Given the description of an element on the screen output the (x, y) to click on. 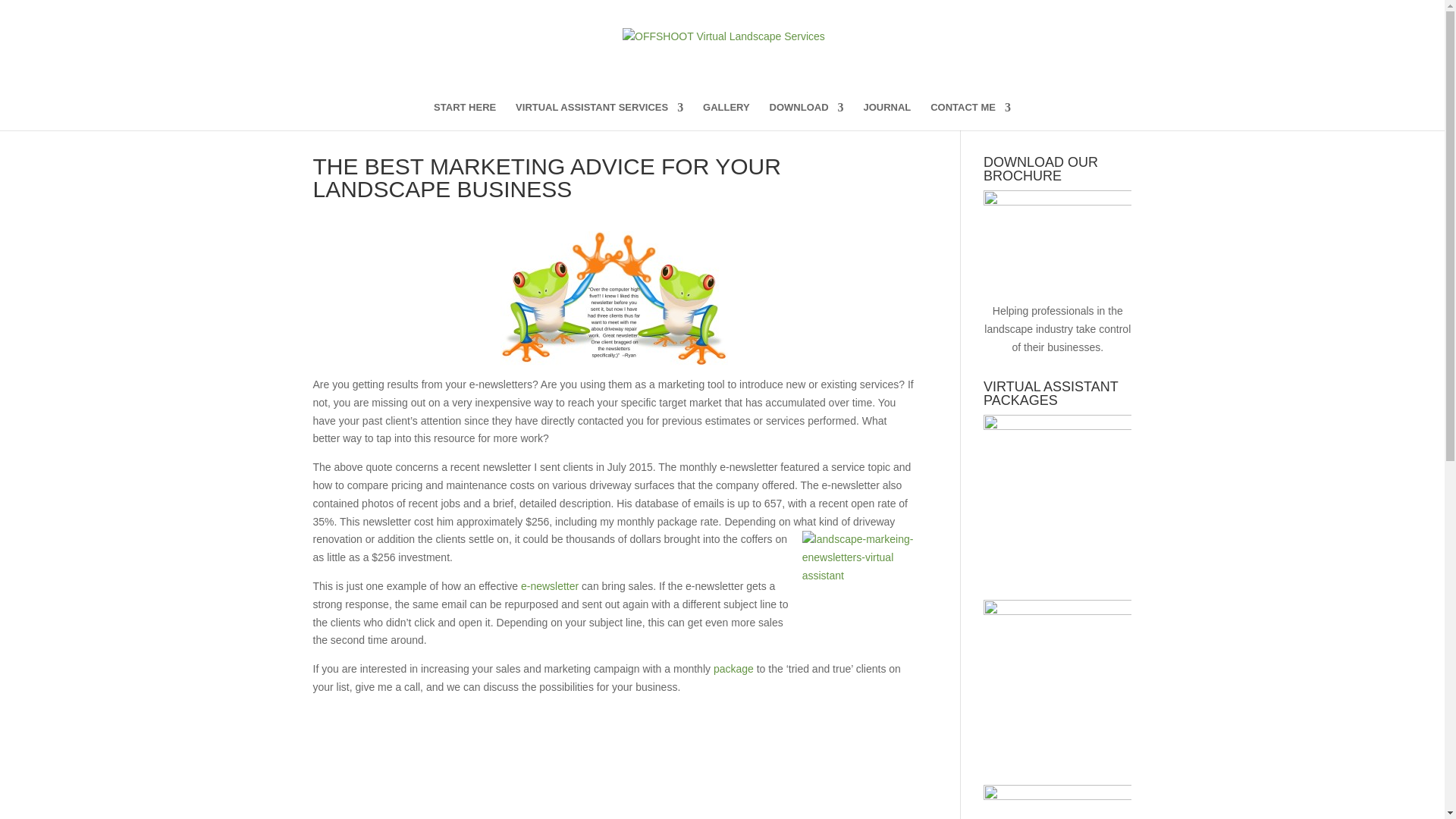
DOWNLOAD (807, 116)
GALLERY (726, 116)
CONTACT ME (970, 116)
VIRTUAL ASSISTANT SERVICES (598, 116)
START HERE (464, 116)
package (733, 668)
JOURNAL (887, 116)
e-newsletter (549, 585)
